Given the description of an element on the screen output the (x, y) to click on. 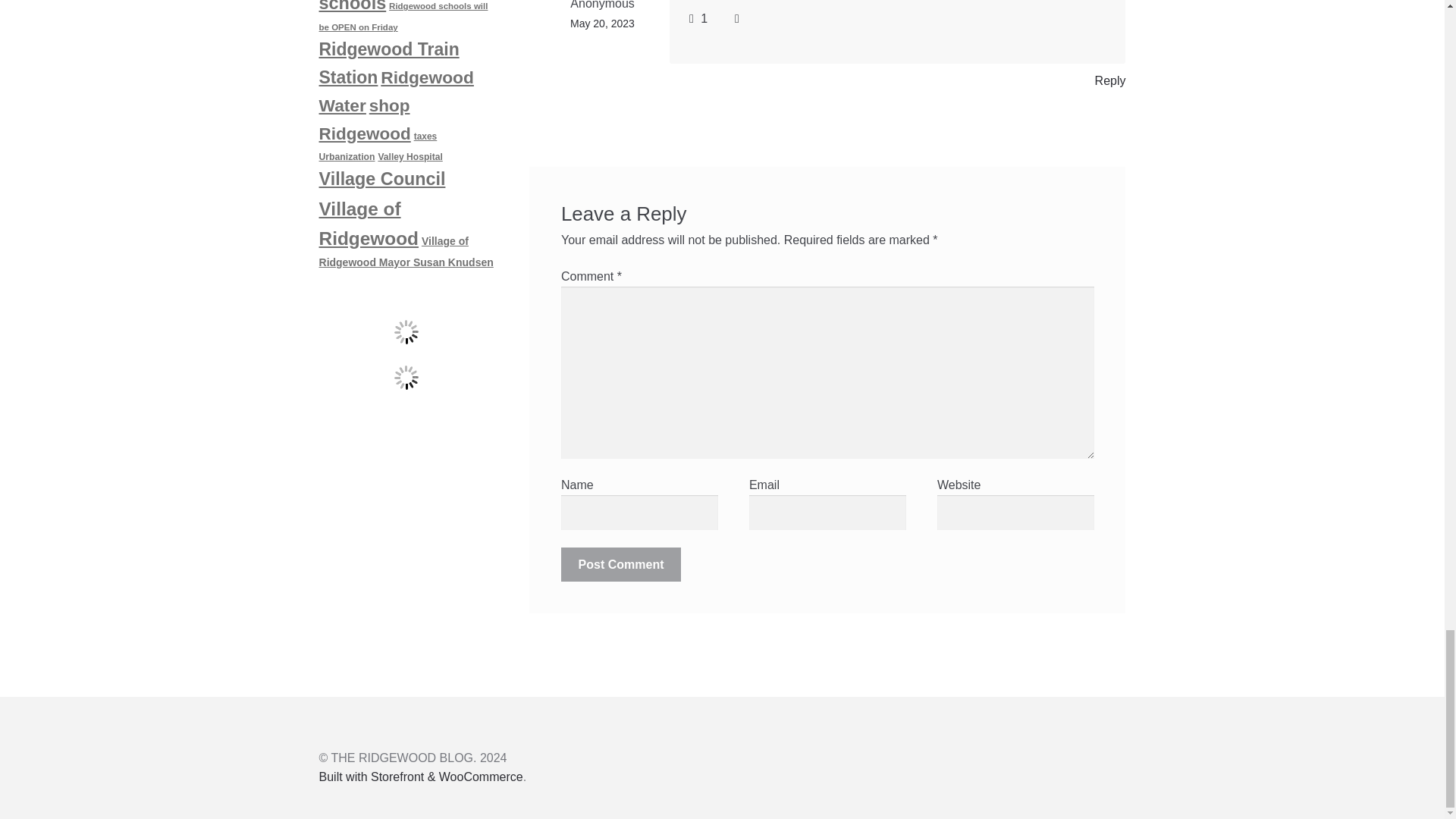
Post Comment (620, 564)
WooCommerce - The Best eCommerce Platform for WordPress (420, 776)
